Given the description of an element on the screen output the (x, y) to click on. 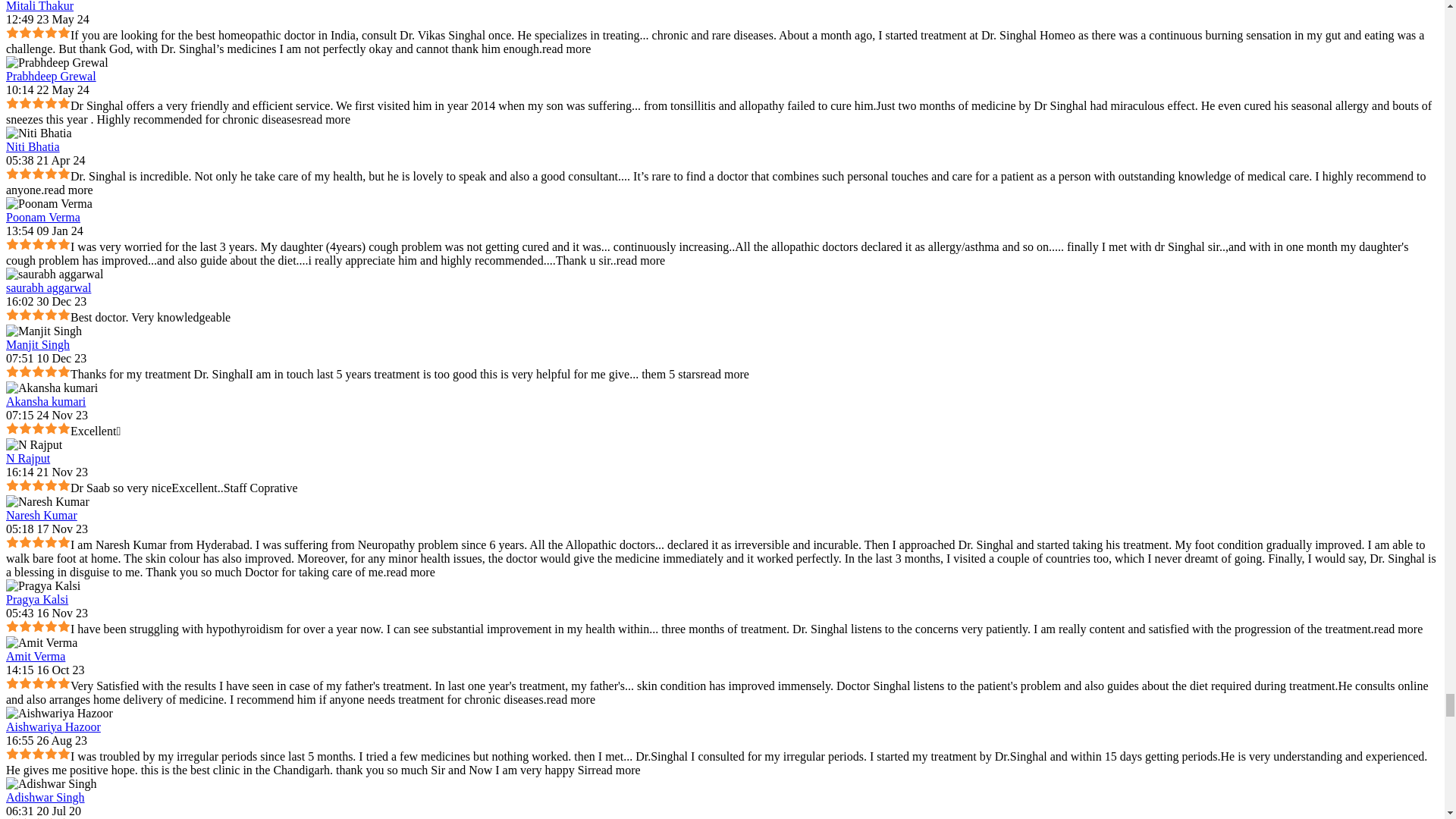
saurabh aggarwal (54, 273)
Prabhdeep Grewal (56, 62)
Niti Bhatia (38, 132)
Poonam Verma (49, 203)
